Given the description of an element on the screen output the (x, y) to click on. 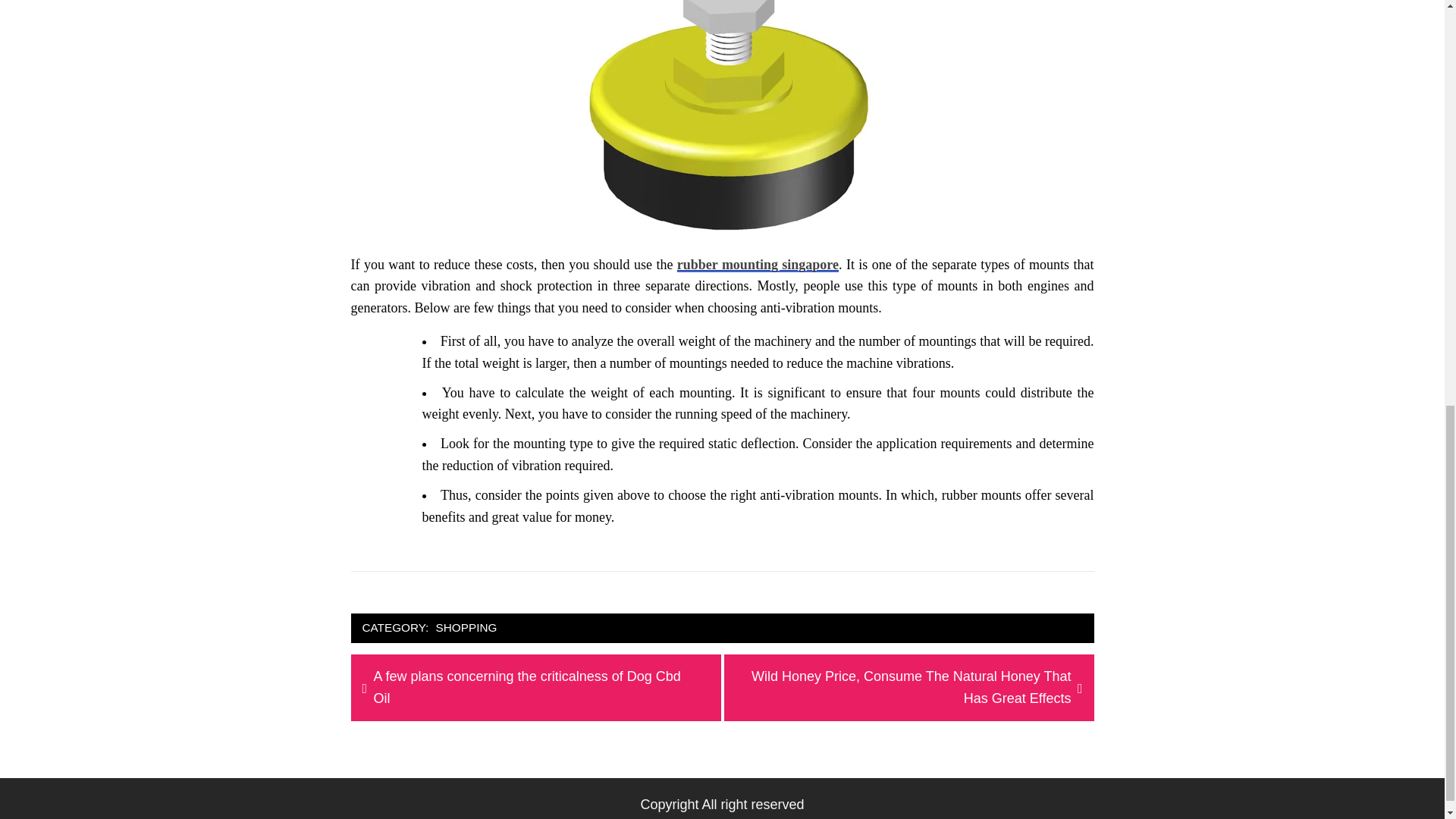
rubber mounting singapore (757, 264)
SHOPPING (466, 628)
